Given the description of an element on the screen output the (x, y) to click on. 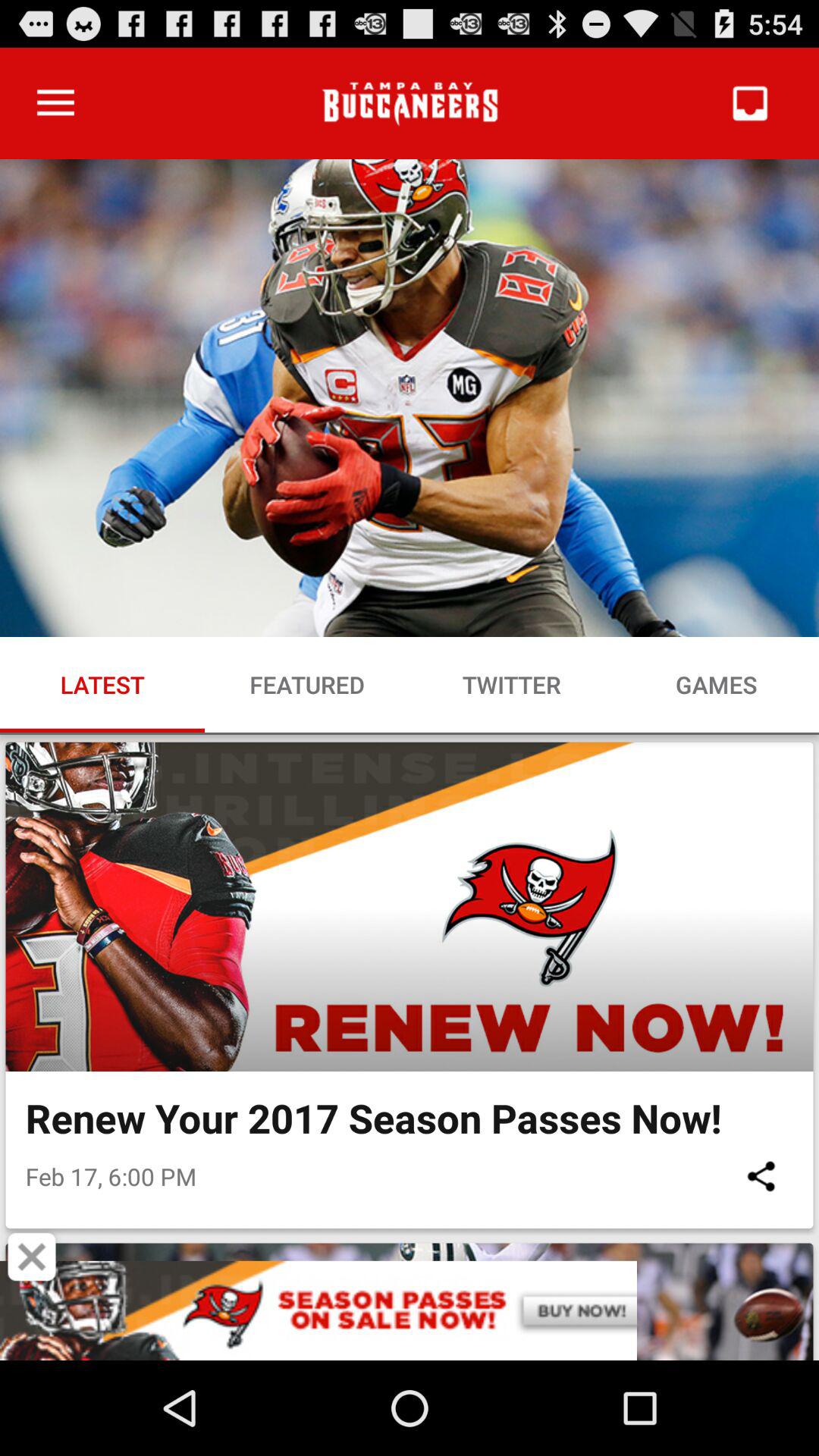
launch item at the top left corner (55, 103)
